Given the description of an element on the screen output the (x, y) to click on. 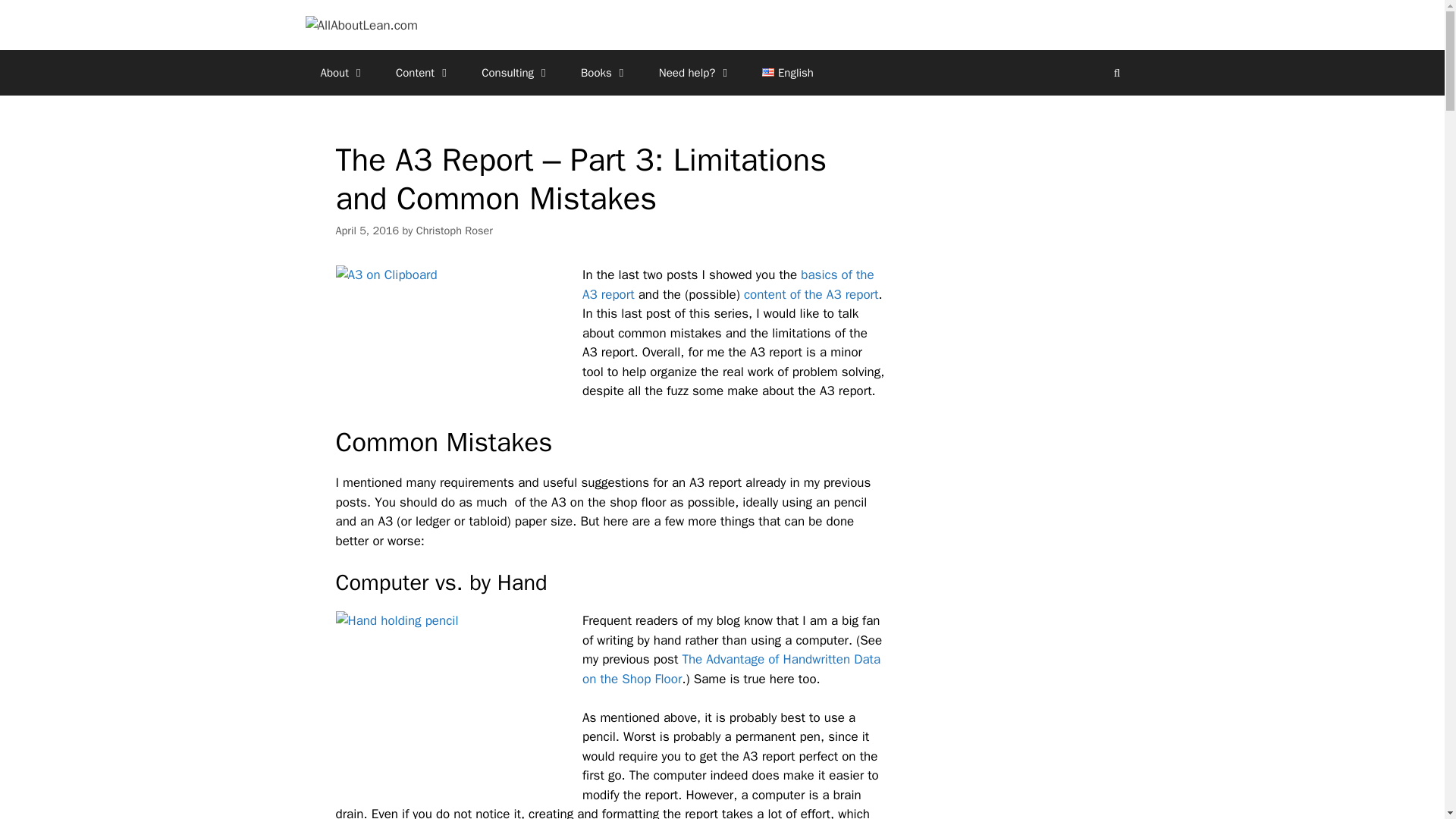
English (787, 72)
Content (422, 72)
Need help? (695, 72)
The Advantage of Handwritten Data on the Shop Floor (731, 669)
Books (604, 72)
basics of the A3 report (728, 284)
About the blog content (342, 72)
View all posts by Christoph Roser (454, 230)
About (342, 72)
content of the A3 report (811, 294)
Consulting (515, 72)
Christoph Roser (454, 230)
